Given the description of an element on the screen output the (x, y) to click on. 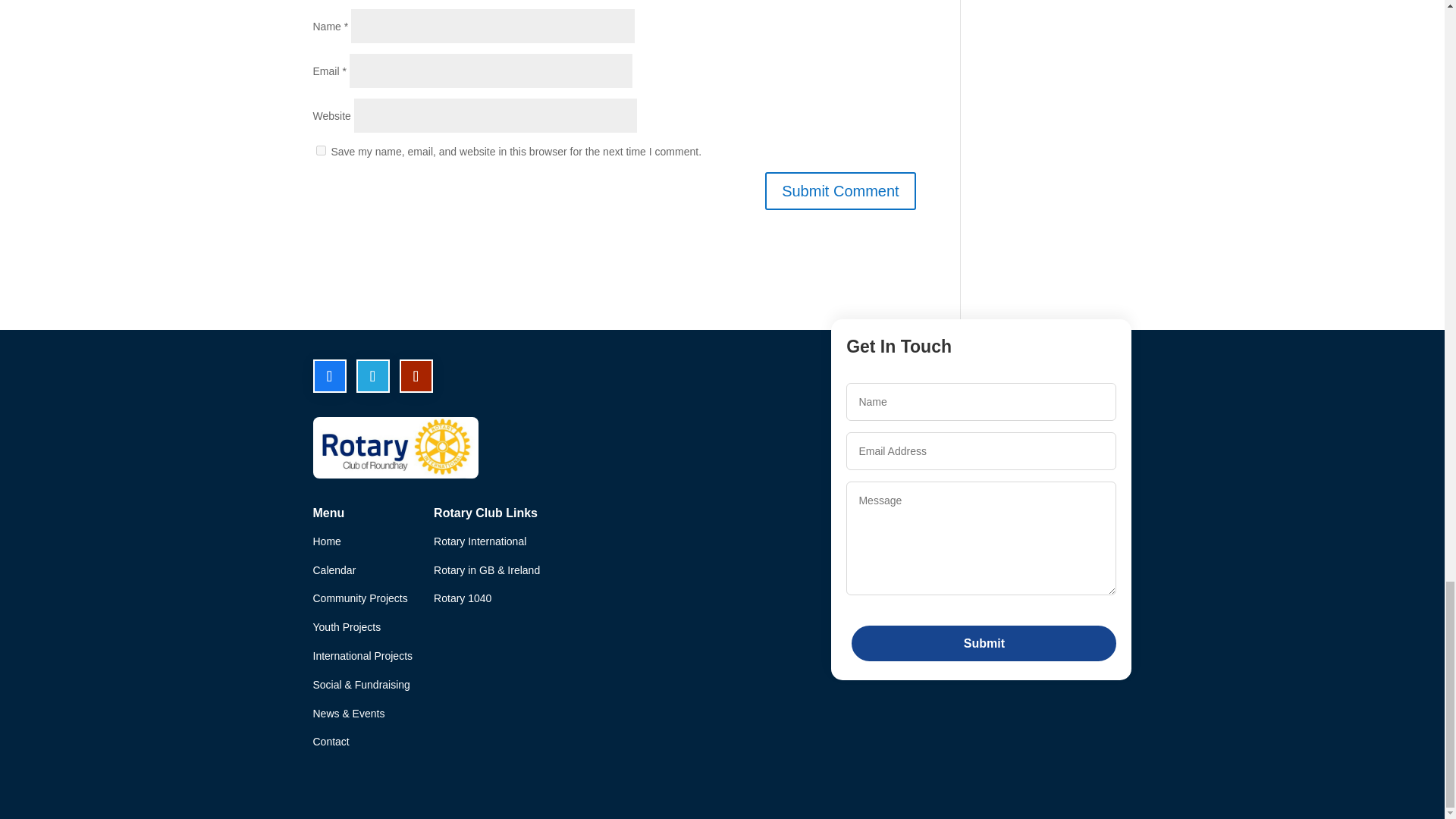
Submit Comment (840, 190)
International Projects (362, 655)
Contact (331, 741)
Submit (983, 642)
Submit Comment (840, 190)
Rotary 1040 (462, 598)
Calendar (334, 570)
Community Projects (360, 598)
yes (319, 150)
Youth Projects (346, 626)
